Given the description of an element on the screen output the (x, y) to click on. 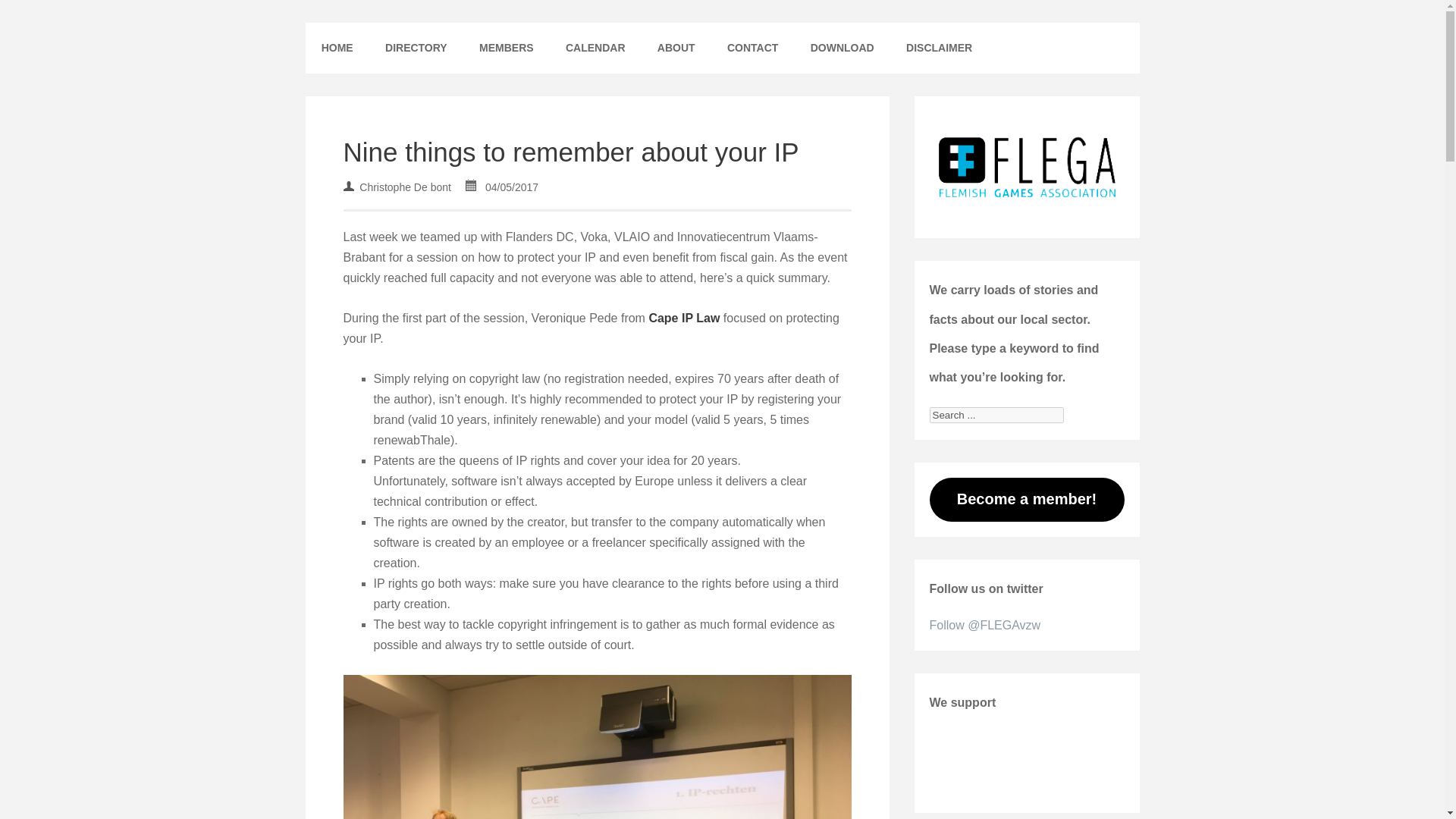
Search ... (997, 415)
HOME (336, 47)
DIRECTORY (416, 47)
MEMBERS (506, 47)
Search ... (997, 415)
DOWNLOAD (841, 47)
CALENDAR (596, 47)
Become a member! (1027, 499)
Nine things to remember about your IP (569, 152)
Cape IP Law (683, 318)
ABOUT (676, 47)
DISCLAIMER (938, 47)
FLEGA (342, 33)
CONTACT (752, 47)
